Given the description of an element on the screen output the (x, y) to click on. 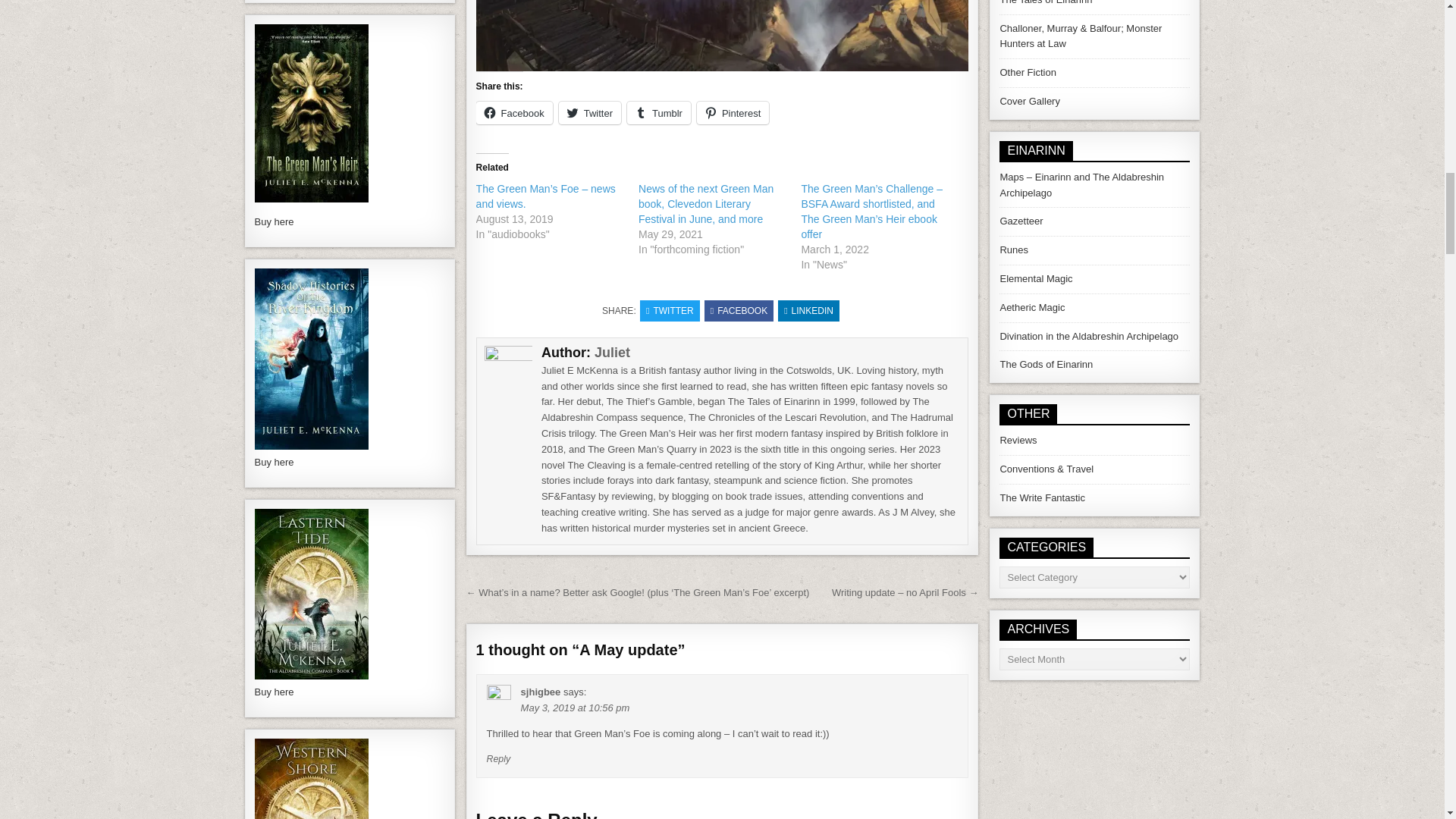
Click to share on Tumblr (658, 112)
Click to share on Twitter (590, 112)
Tweet This! (670, 310)
Click to share on Pinterest (732, 112)
Click to share on Facebook (514, 112)
Share this on Facebook (738, 310)
Share this on Linkedin (808, 310)
